Given the description of an element on the screen output the (x, y) to click on. 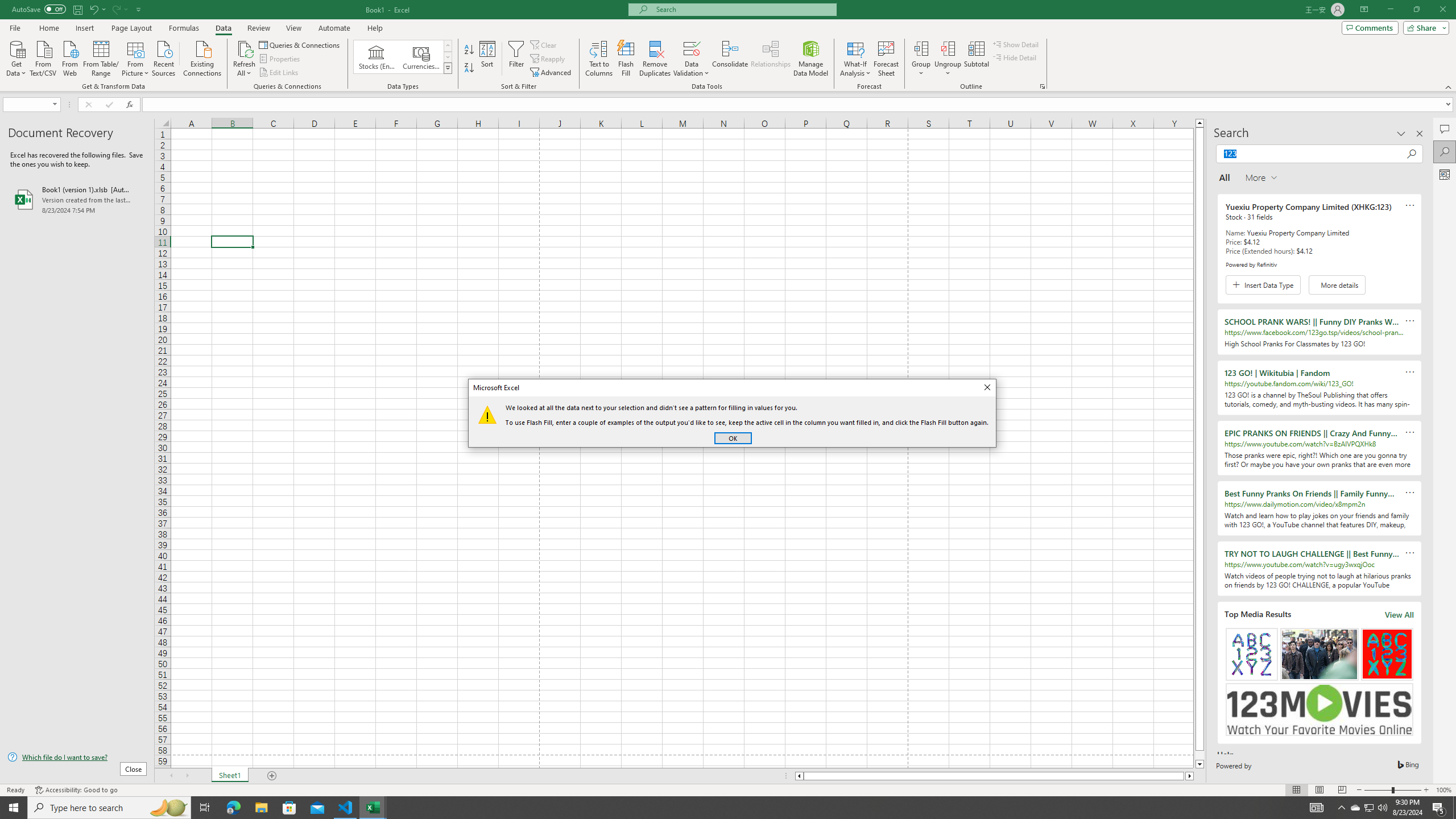
Q2790: 100% (1382, 807)
From Picture (135, 57)
